Given the description of an element on the screen output the (x, y) to click on. 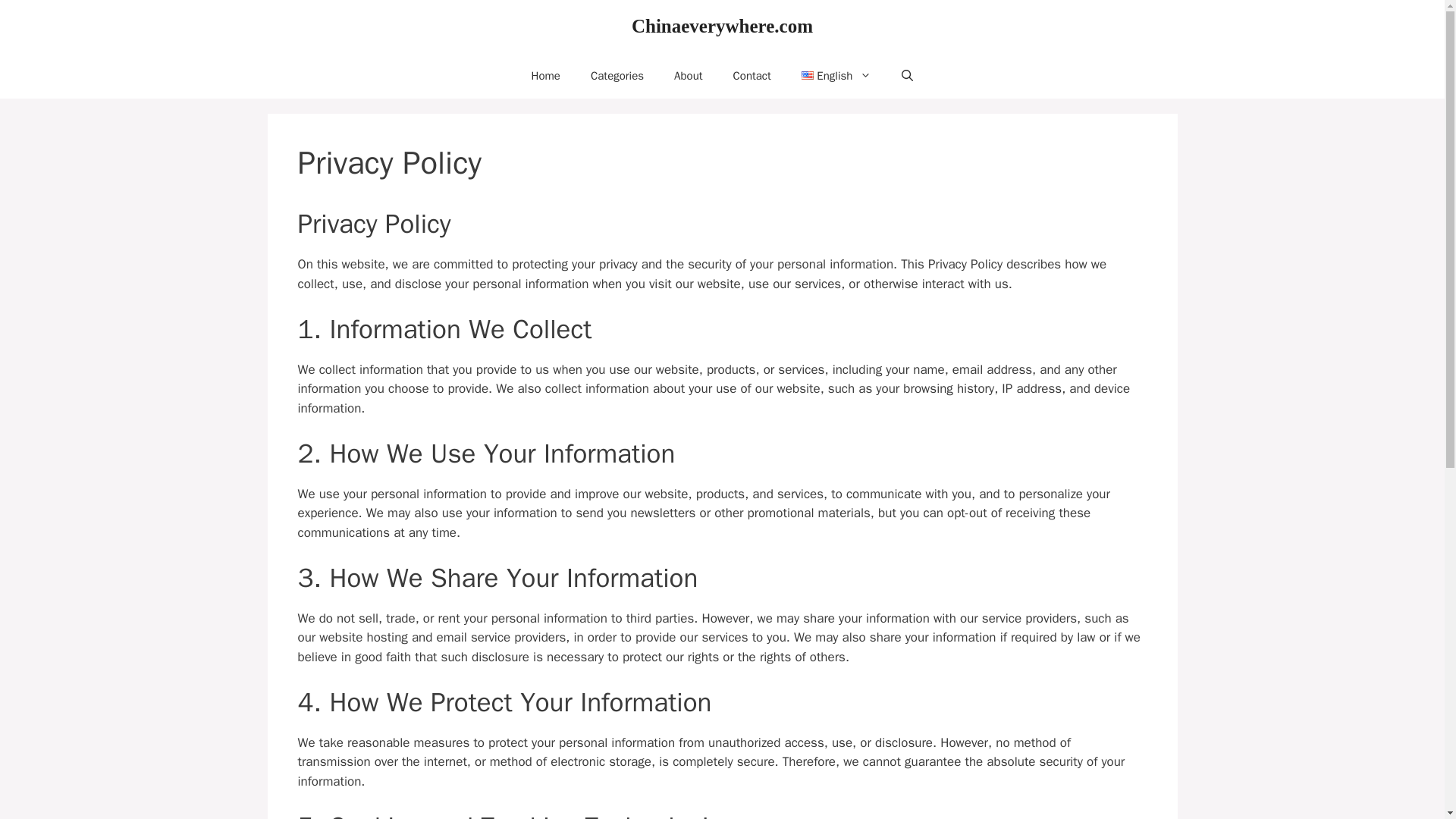
Chinaeverywhere.com (721, 25)
Contact (751, 75)
Home (545, 75)
Categories (617, 75)
English (836, 75)
About (688, 75)
